Given the description of an element on the screen output the (x, y) to click on. 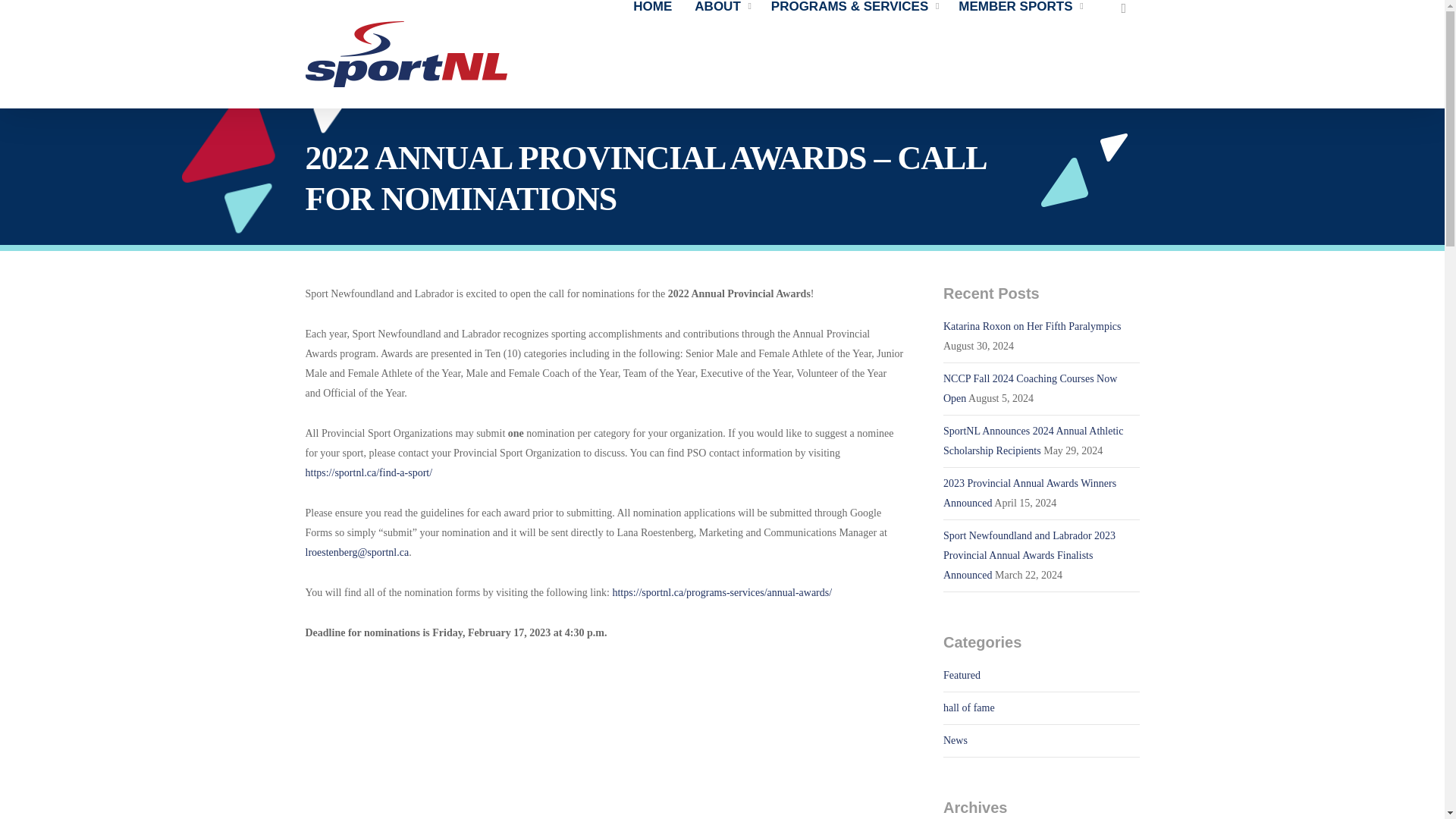
ABOUT (724, 6)
HOME (656, 6)
MEMBER SPORTS (1022, 6)
